Given the description of an element on the screen output the (x, y) to click on. 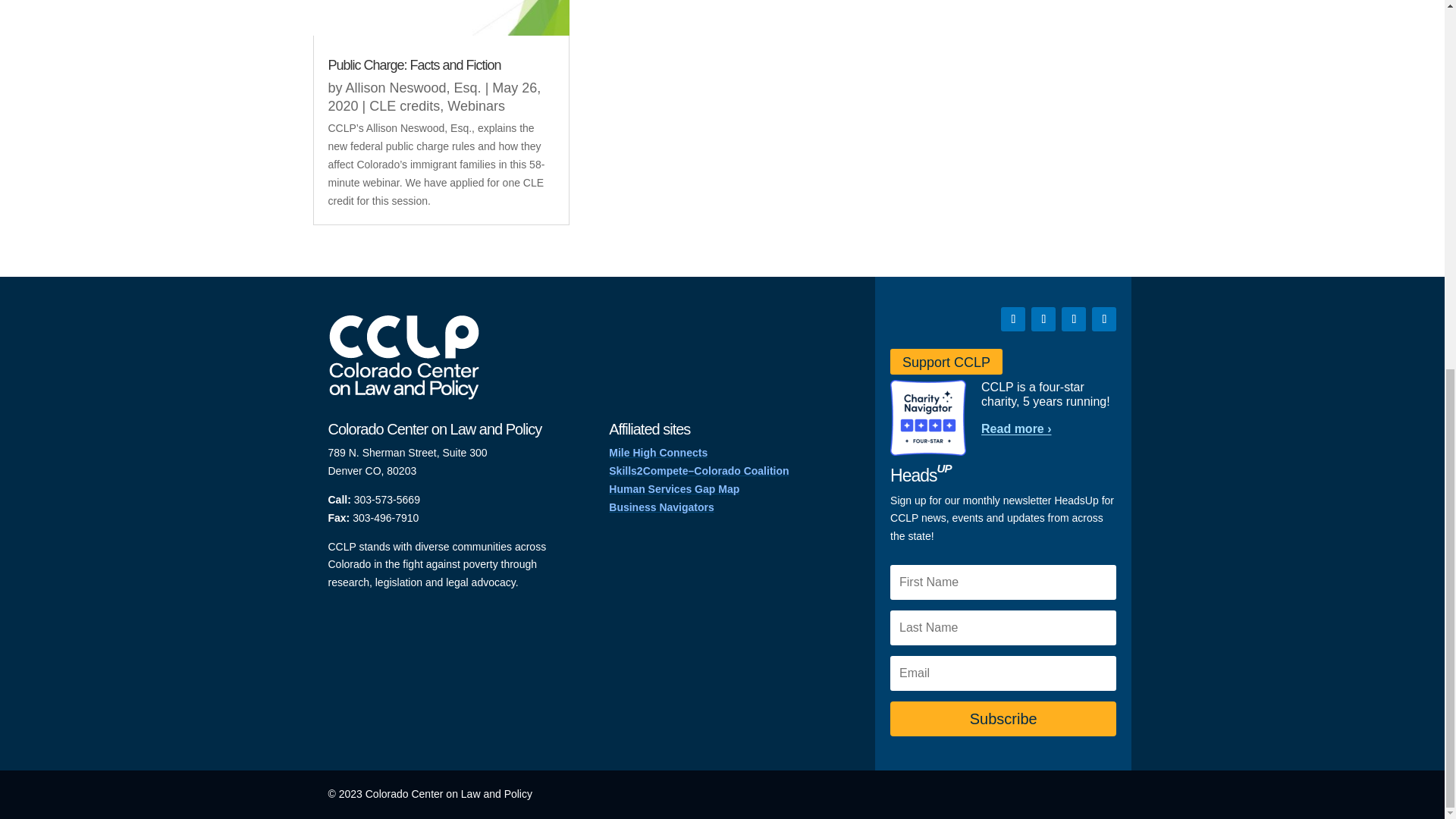
Follow on Facebook (1013, 319)
Follow on Youtube (1104, 319)
Posts by Allison Neswood, Esq. (413, 87)
Follow on Instagram (1073, 319)
Follow on X (1042, 319)
